Given the description of an element on the screen output the (x, y) to click on. 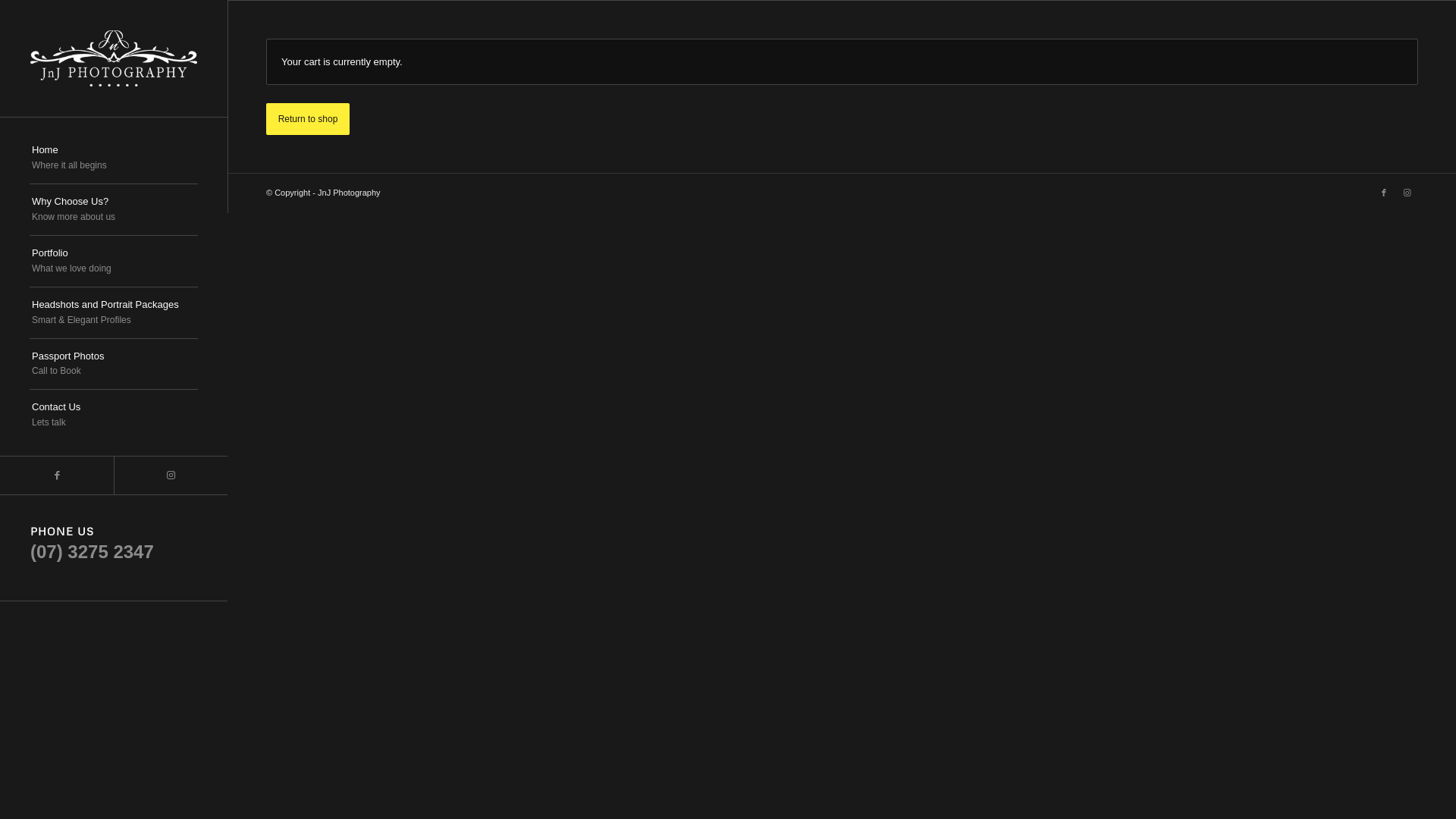
Headshots and Portrait Packages
Smart & Elegant Profiles Element type: text (113, 312)
(07) 3275 2347 Element type: text (91, 551)
Home
Where it all begins Element type: text (113, 158)
Portfolio
What we love doing Element type: text (113, 261)
Return to shop Element type: text (307, 118)
Facebook Element type: hover (1383, 192)
Instagram Element type: hover (1406, 192)
Why Choose Us?
Know more about us Element type: text (113, 209)
Facebook Element type: hover (56, 475)
Instagram Element type: hover (170, 475)
Contact Us
Lets talk Element type: text (113, 414)
Passport Photos
Call to Book Element type: text (113, 364)
